Given the description of an element on the screen output the (x, y) to click on. 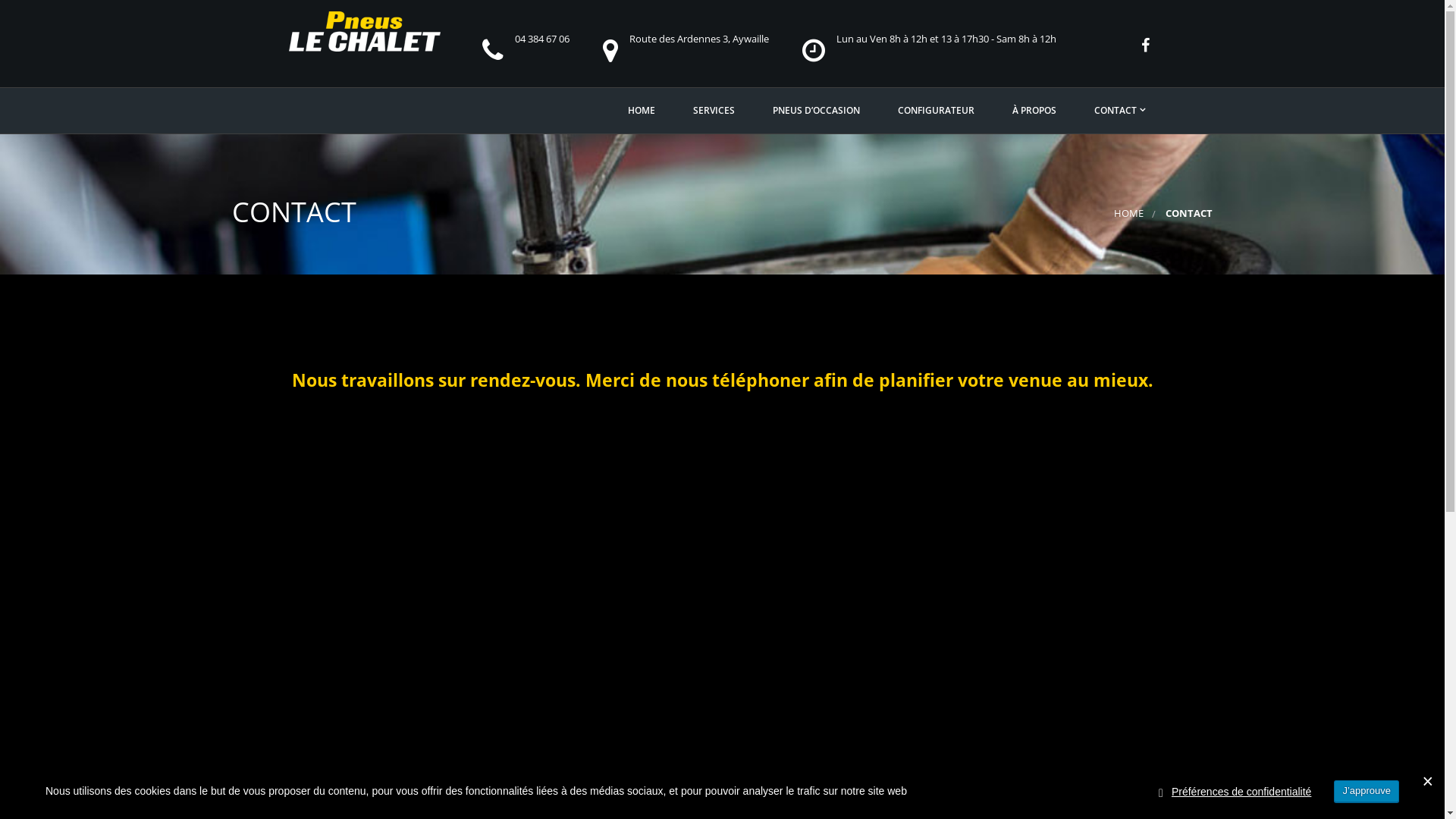
SERVICES Element type: text (713, 109)
CONFIGURATEUR Element type: text (935, 109)
CONTACT Element type: text (1117, 109)
HOME Element type: text (1128, 213)
HOME Element type: text (641, 109)
Le chalet pneus Element type: hover (364, 31)
